Given the description of an element on the screen output the (x, y) to click on. 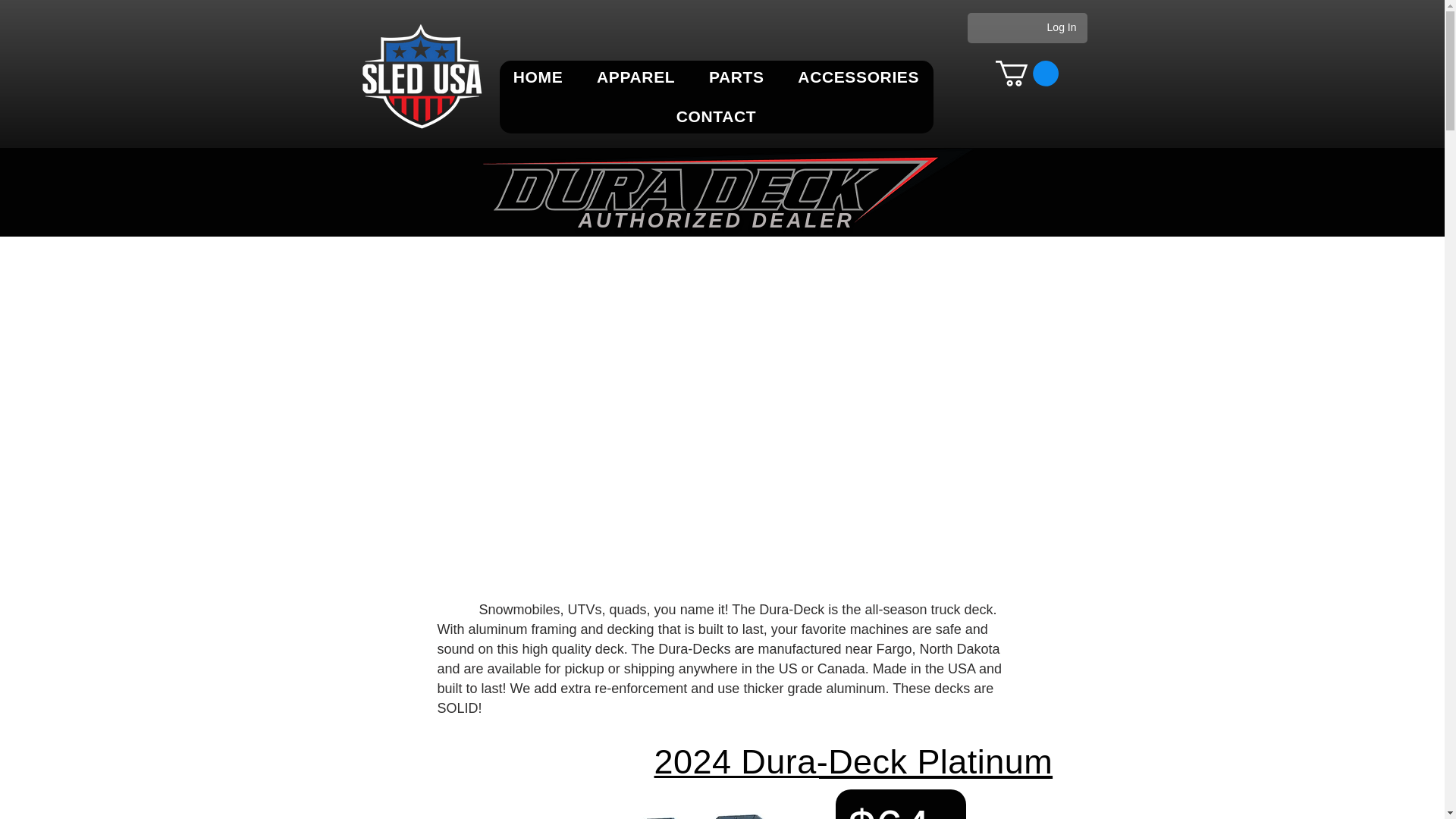
HOME (537, 77)
